Given the description of an element on the screen output the (x, y) to click on. 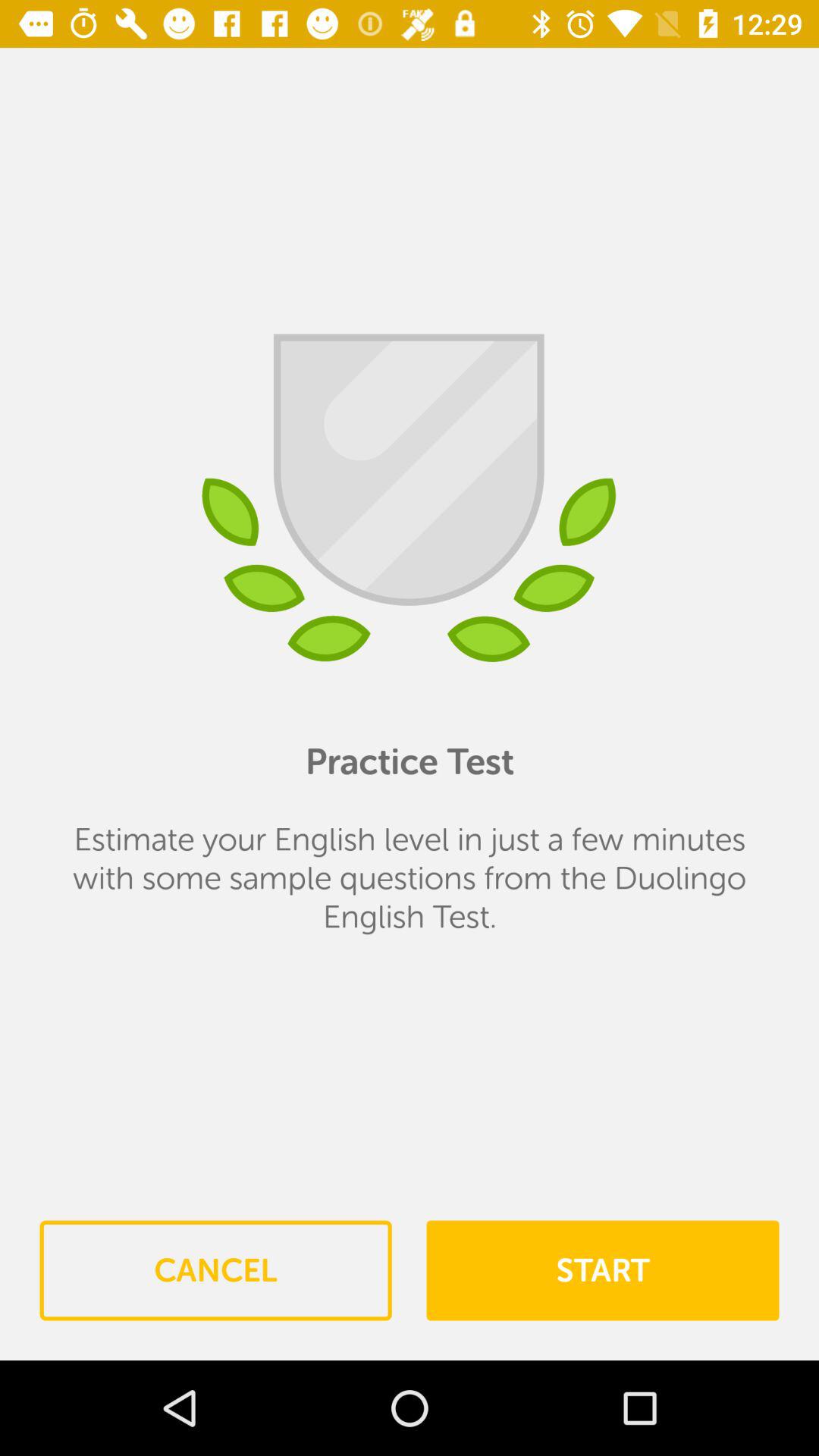
open icon to the left of start (215, 1270)
